Given the description of an element on the screen output the (x, y) to click on. 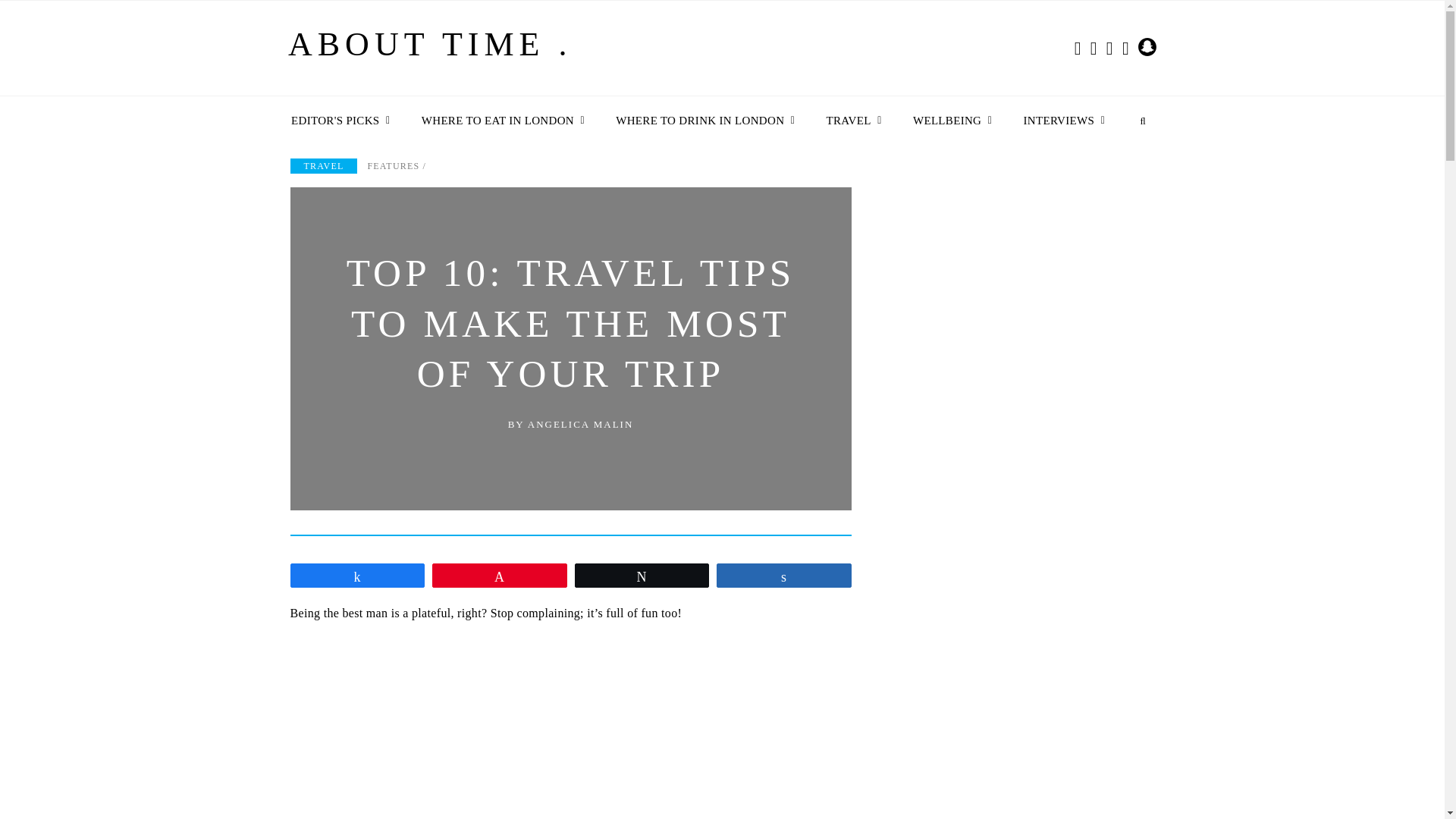
ABOUT TIME . (430, 51)
EDITOR'S PICKS (337, 120)
Go to the Features category archives. (392, 165)
WHERE TO EAT IN LONDON (499, 120)
Go to the Travel category archives. (322, 165)
TRAVEL (849, 120)
Posts by Angelica Malin (580, 423)
WHERE TO DRINK IN LONDON (701, 120)
